Given the description of an element on the screen output the (x, y) to click on. 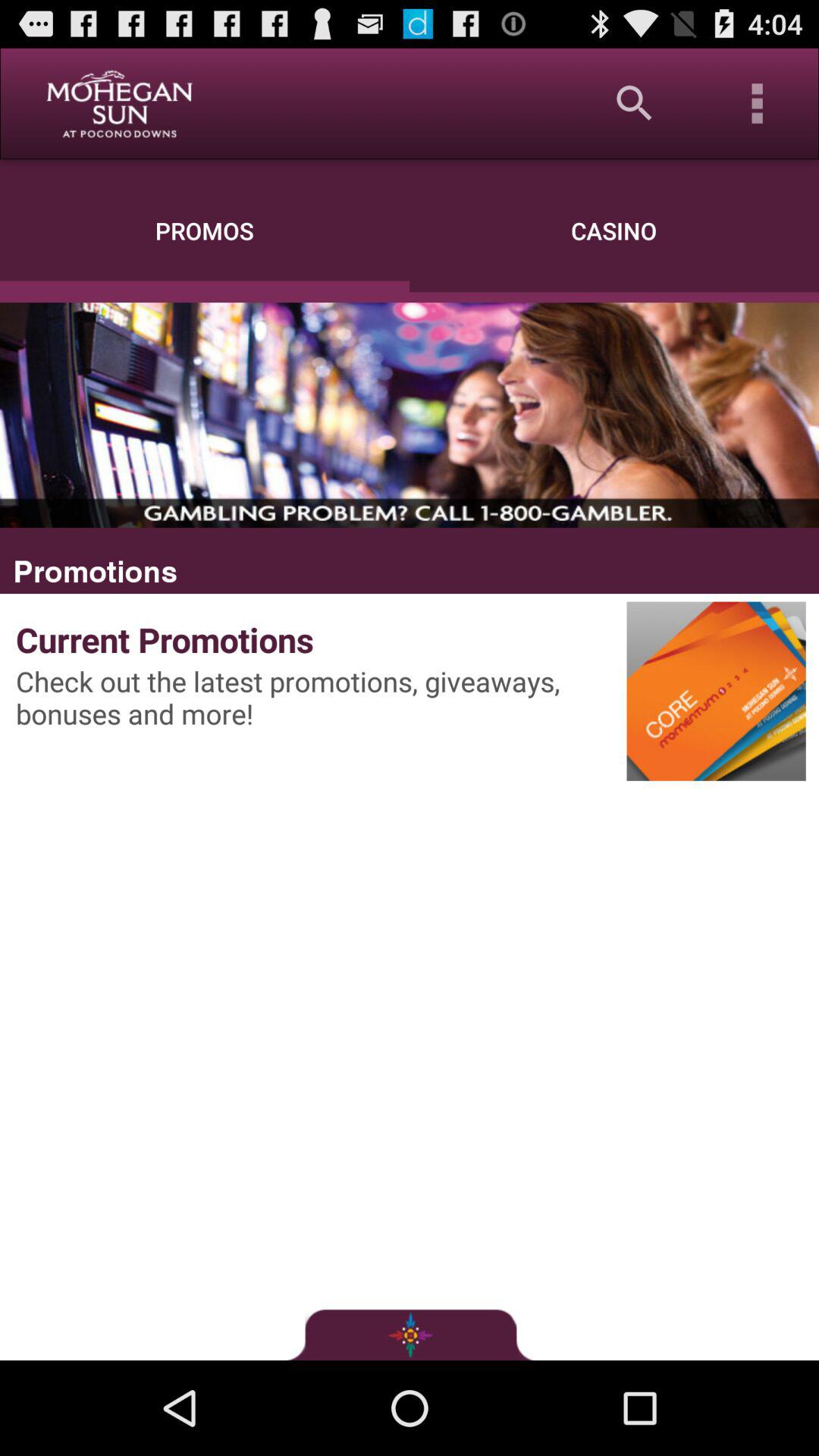
menu options (757, 103)
